Given the description of an element on the screen output the (x, y) to click on. 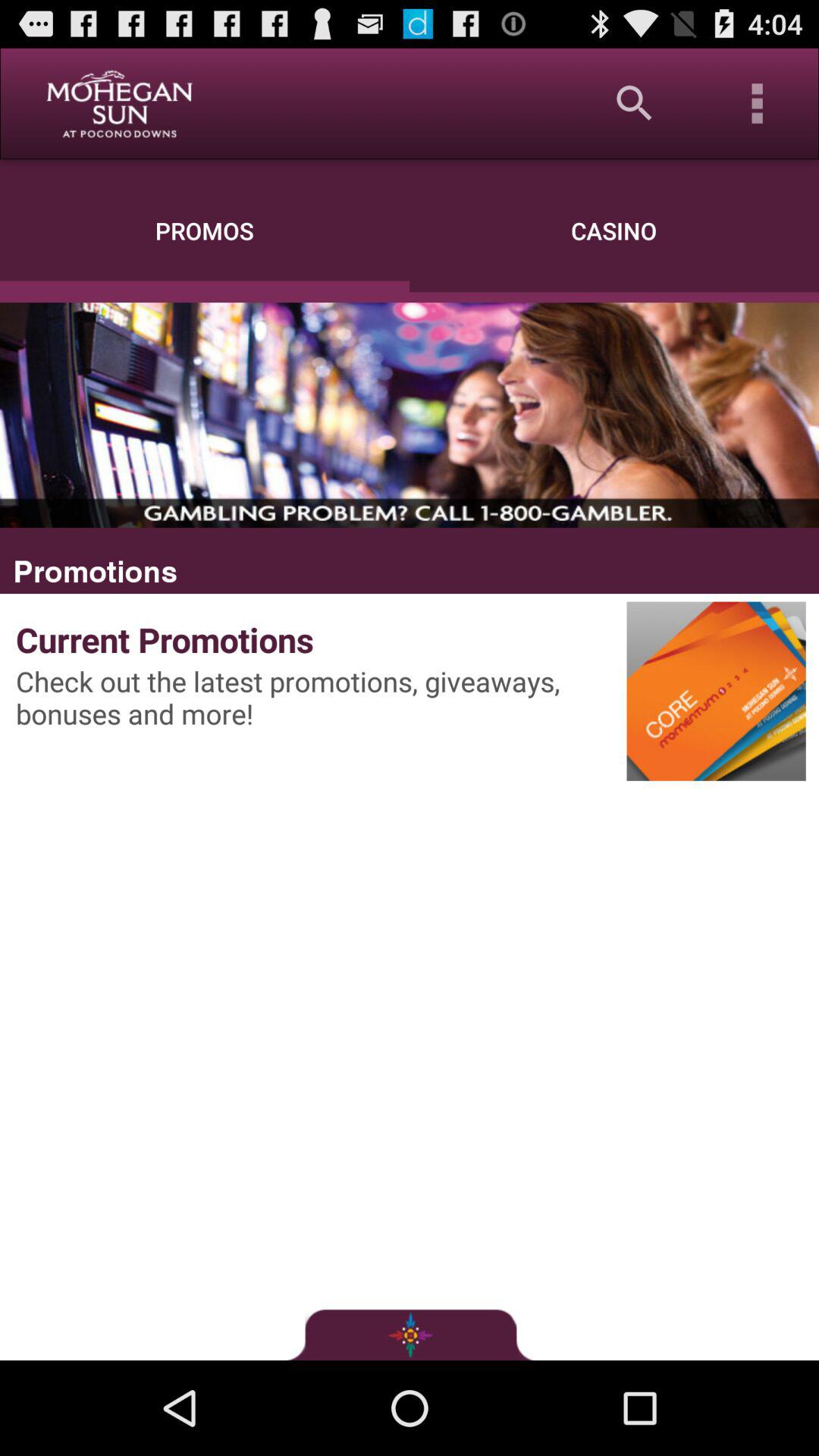
menu options (757, 103)
